Given the description of an element on the screen output the (x, y) to click on. 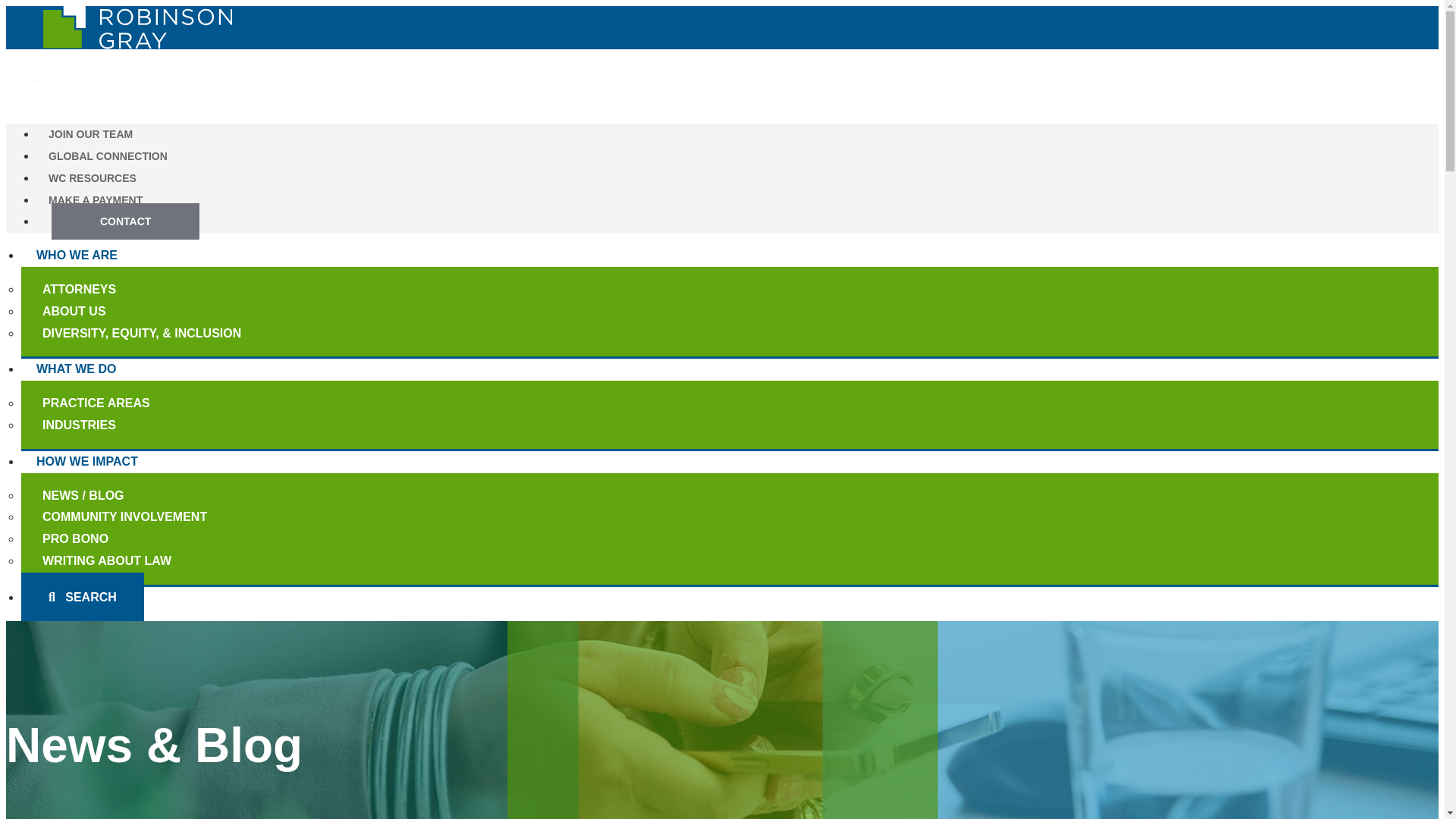
HOW WE IMPACT (86, 461)
CONTACT (124, 221)
PRO BONO (94, 538)
WHO WE ARE (76, 255)
WRITING ABOUT LAW (126, 560)
JOIN OUR TEAM (90, 134)
PRACTICE AREAS (116, 402)
WC RESOURCES (92, 177)
ATTORNEYS (98, 289)
COMMUNITY INVOLVEMENT (144, 516)
   SEARCH (82, 596)
INDUSTRIES (98, 424)
MAKE A PAYMENT (95, 199)
ABOUT US (94, 311)
WHAT WE DO (76, 368)
